Given the description of an element on the screen output the (x, y) to click on. 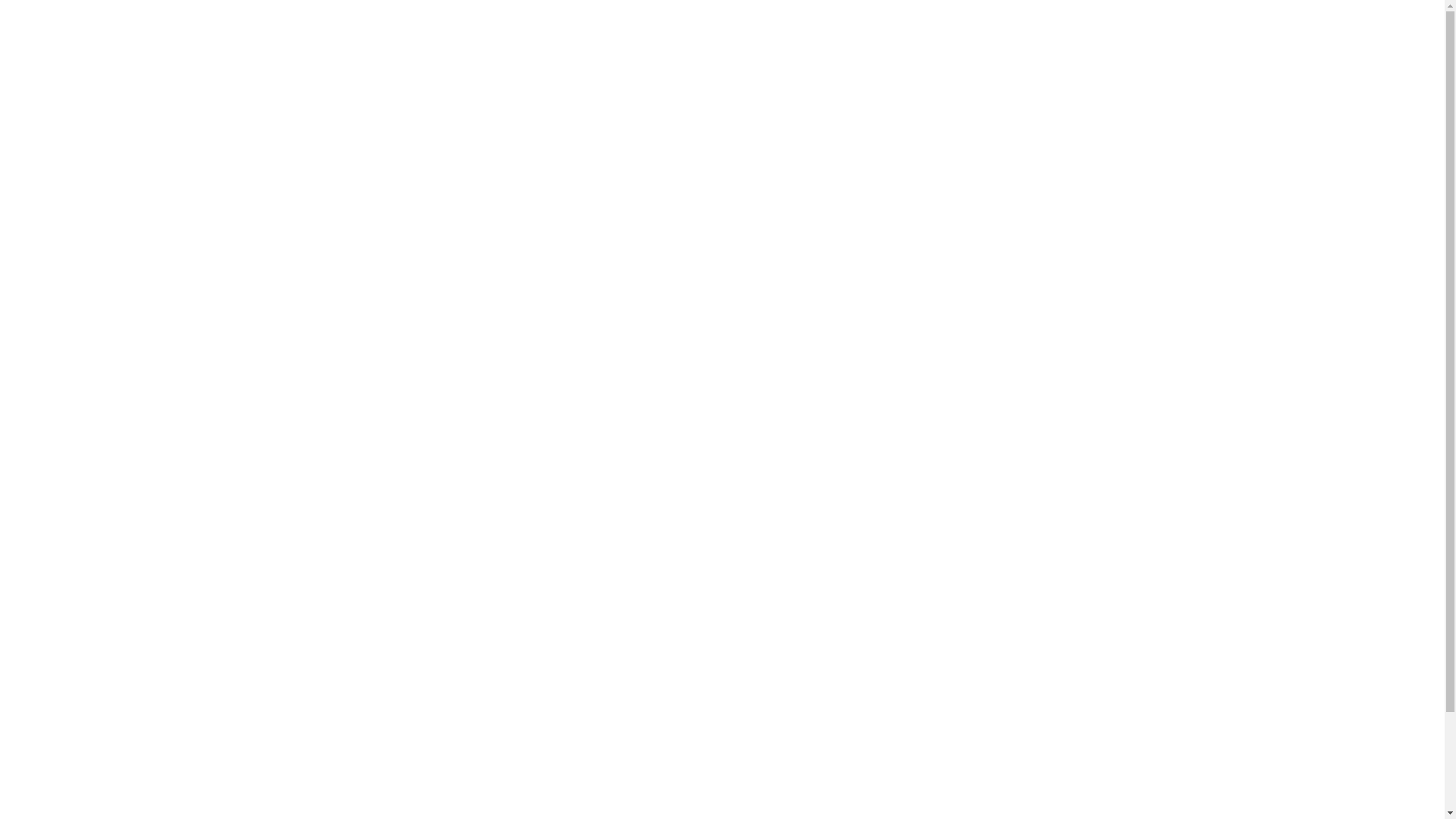
zoek Element type: text (447, 37)
